Given the description of an element on the screen output the (x, y) to click on. 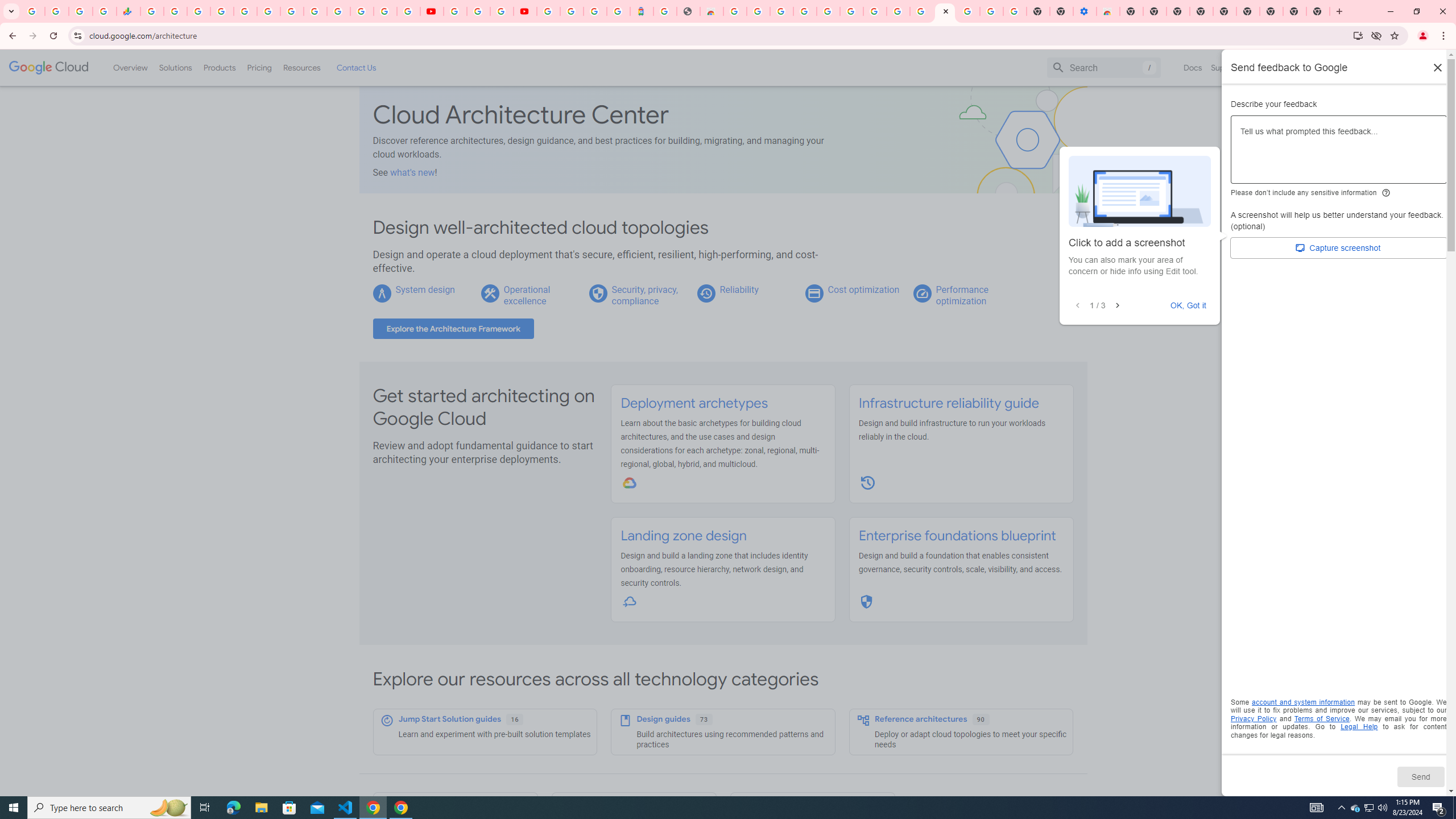
Opens in a new tab. Terms of Service (1321, 718)
Previous (1077, 305)
Sign in - Google Accounts (338, 11)
New Tab (1131, 11)
Explore the Architecture Framework (453, 328)
Install Google Cloud (1358, 35)
Sign in - Google Accounts (547, 11)
YouTube (431, 11)
Privacy Checkup (408, 11)
